Given the description of an element on the screen output the (x, y) to click on. 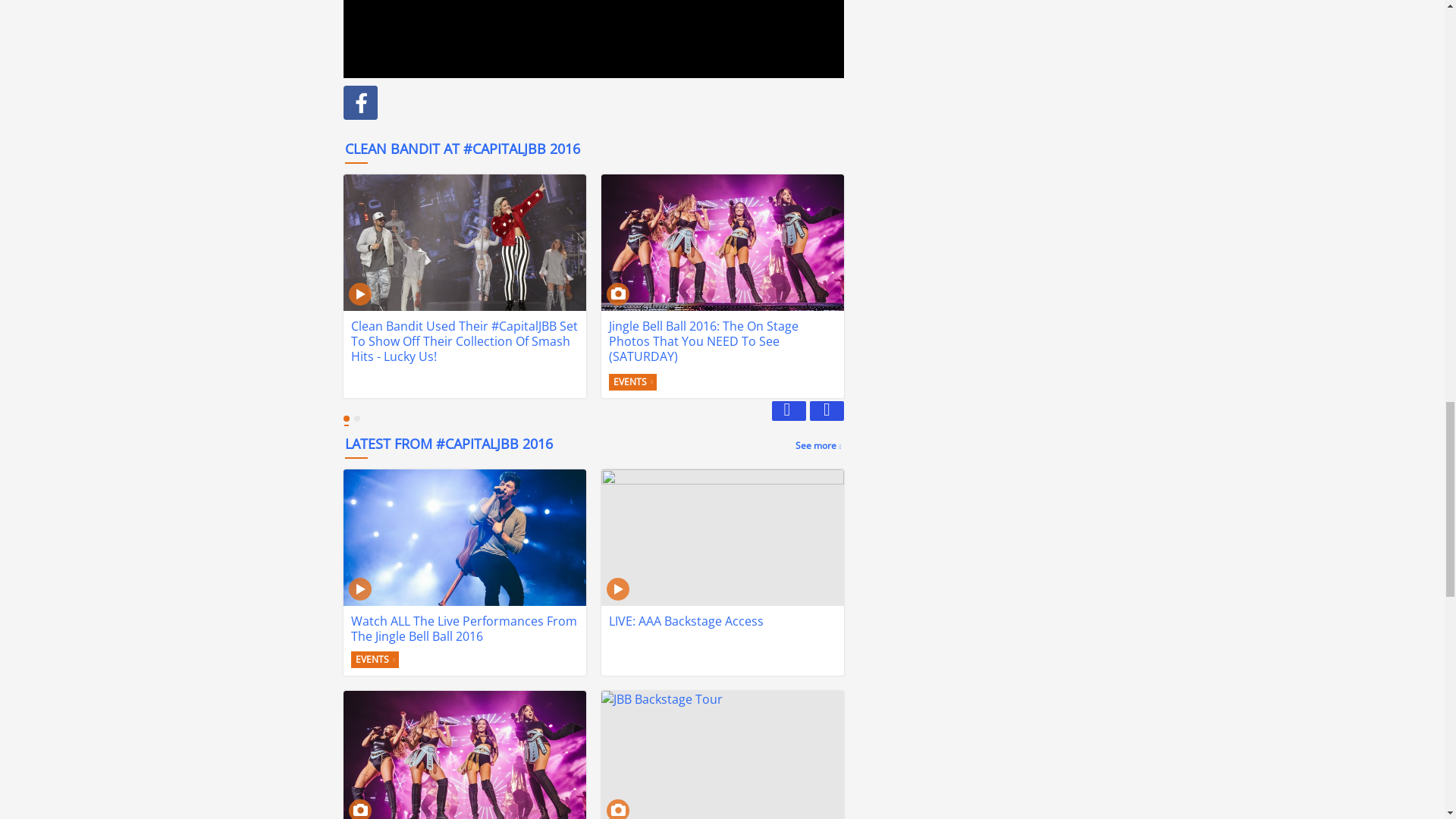
Next (596, 413)
Previous (826, 410)
